Given the description of an element on the screen output the (x, y) to click on. 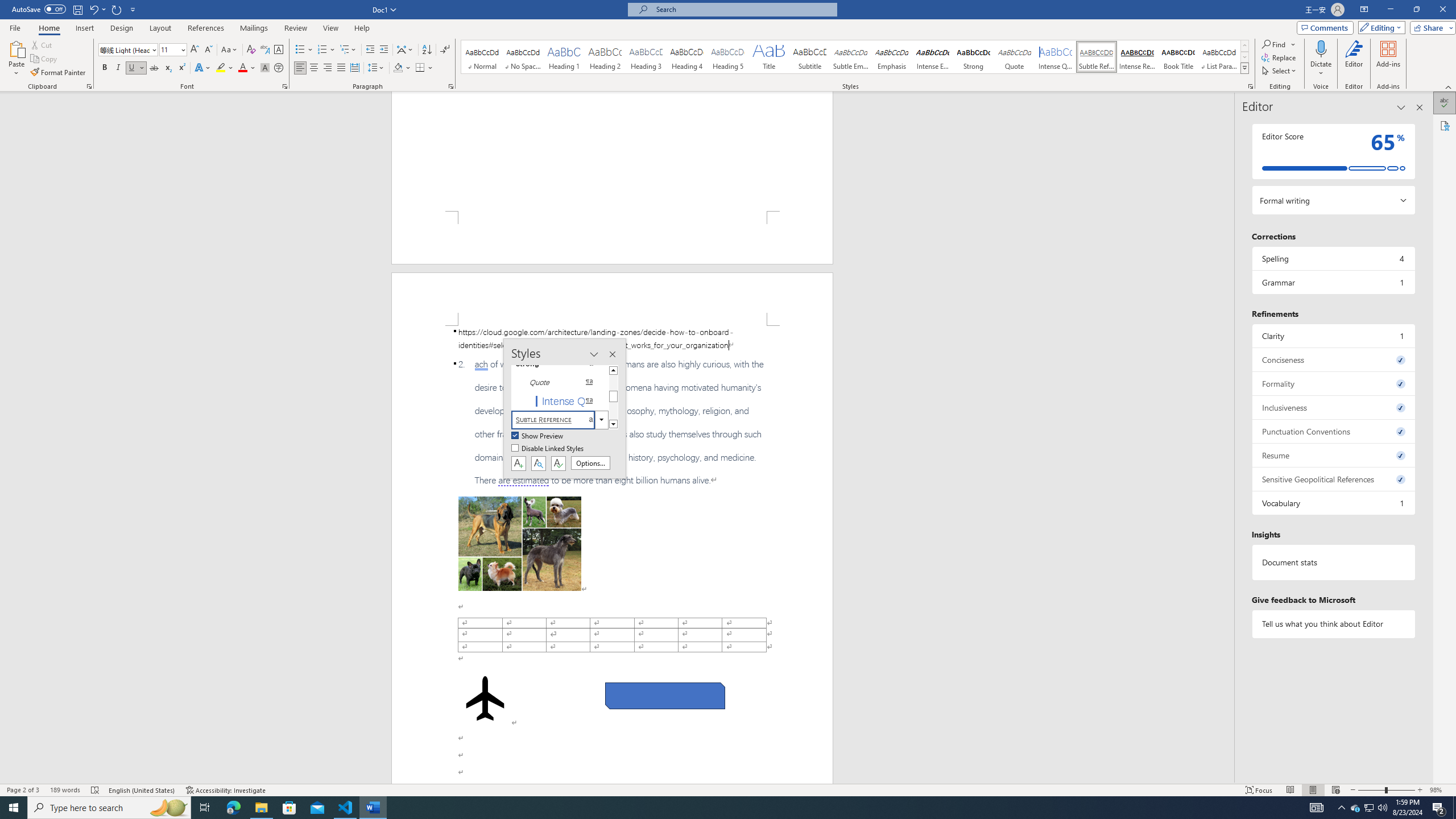
Format Painter (58, 72)
Spelling, 4 issues. Press space or enter to review items. (1333, 258)
Subtle Emphasis (849, 56)
Page 1 content (611, 151)
Styles (1244, 67)
Quote (1014, 56)
Footer -Section 1- (611, 237)
Distributed (354, 67)
